Given the description of an element on the screen output the (x, y) to click on. 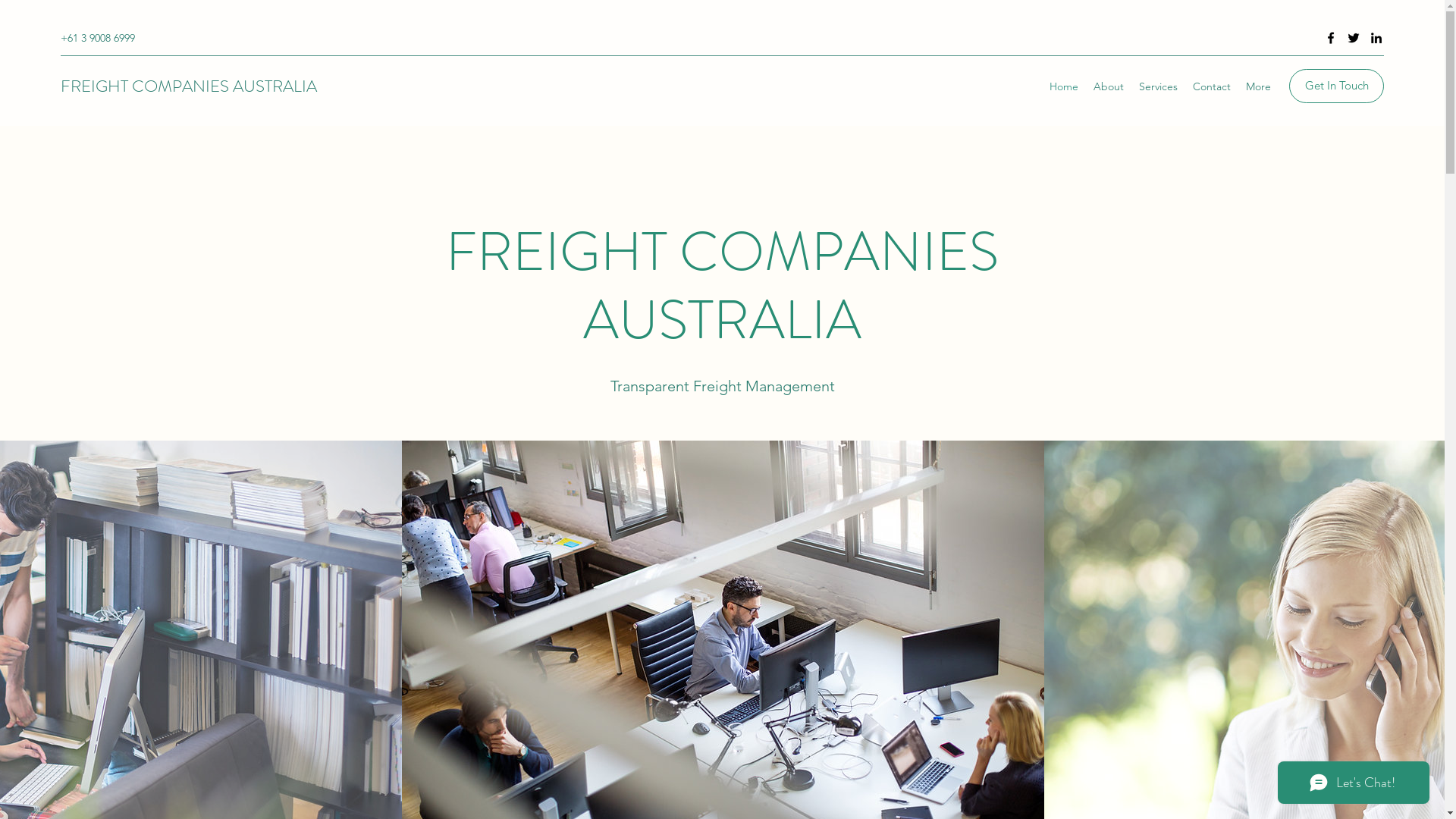
Get In Touch Element type: text (1336, 86)
About Element type: text (1108, 86)
Services Element type: text (1158, 86)
Home Element type: text (1063, 86)
FREIGHT COMPANIES AUSTRALIA Element type: text (188, 85)
Contact Element type: text (1211, 86)
